Given the description of an element on the screen output the (x, y) to click on. 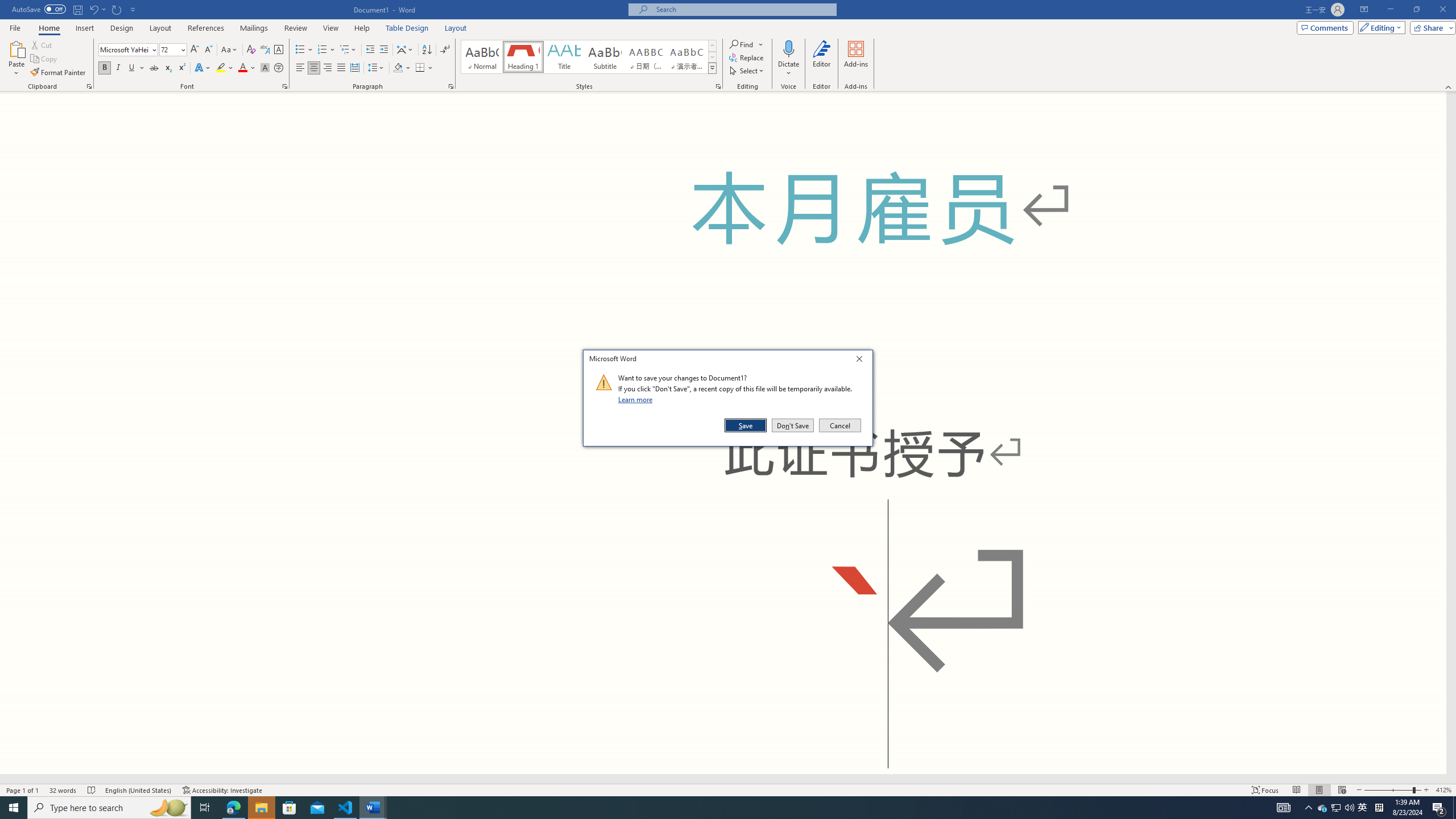
Tray Input Indicator - Chinese (Simplified, China) (1362, 807)
Subtitle (1378, 807)
